Given the description of an element on the screen output the (x, y) to click on. 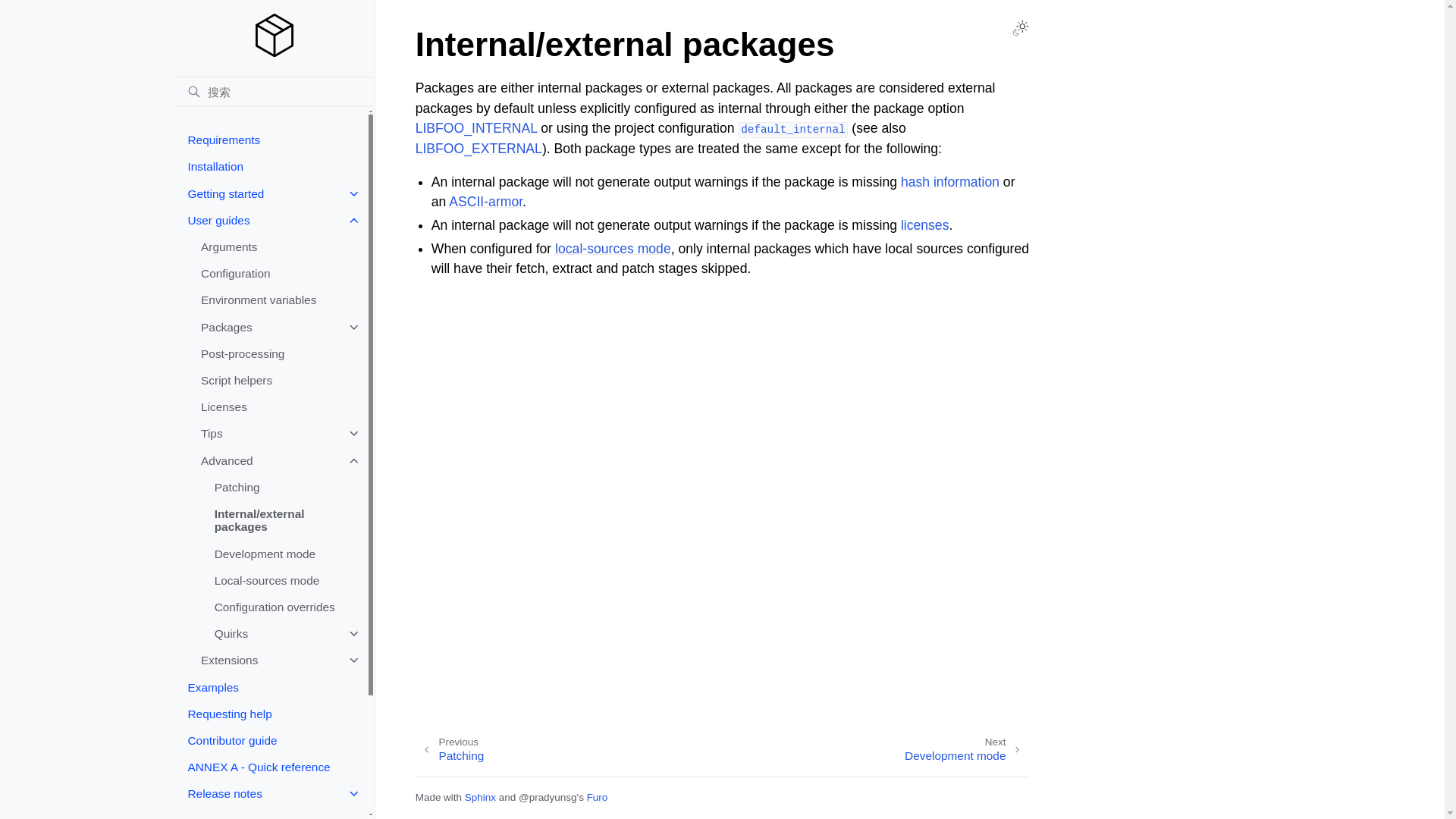
Environment variables (276, 300)
Installation (270, 166)
User guides (270, 220)
Requirements (270, 139)
Post-processing (276, 353)
Tips (276, 433)
Getting started (270, 193)
Script helpers (276, 379)
Arguments (276, 246)
Packages (276, 326)
